Given the description of an element on the screen output the (x, y) to click on. 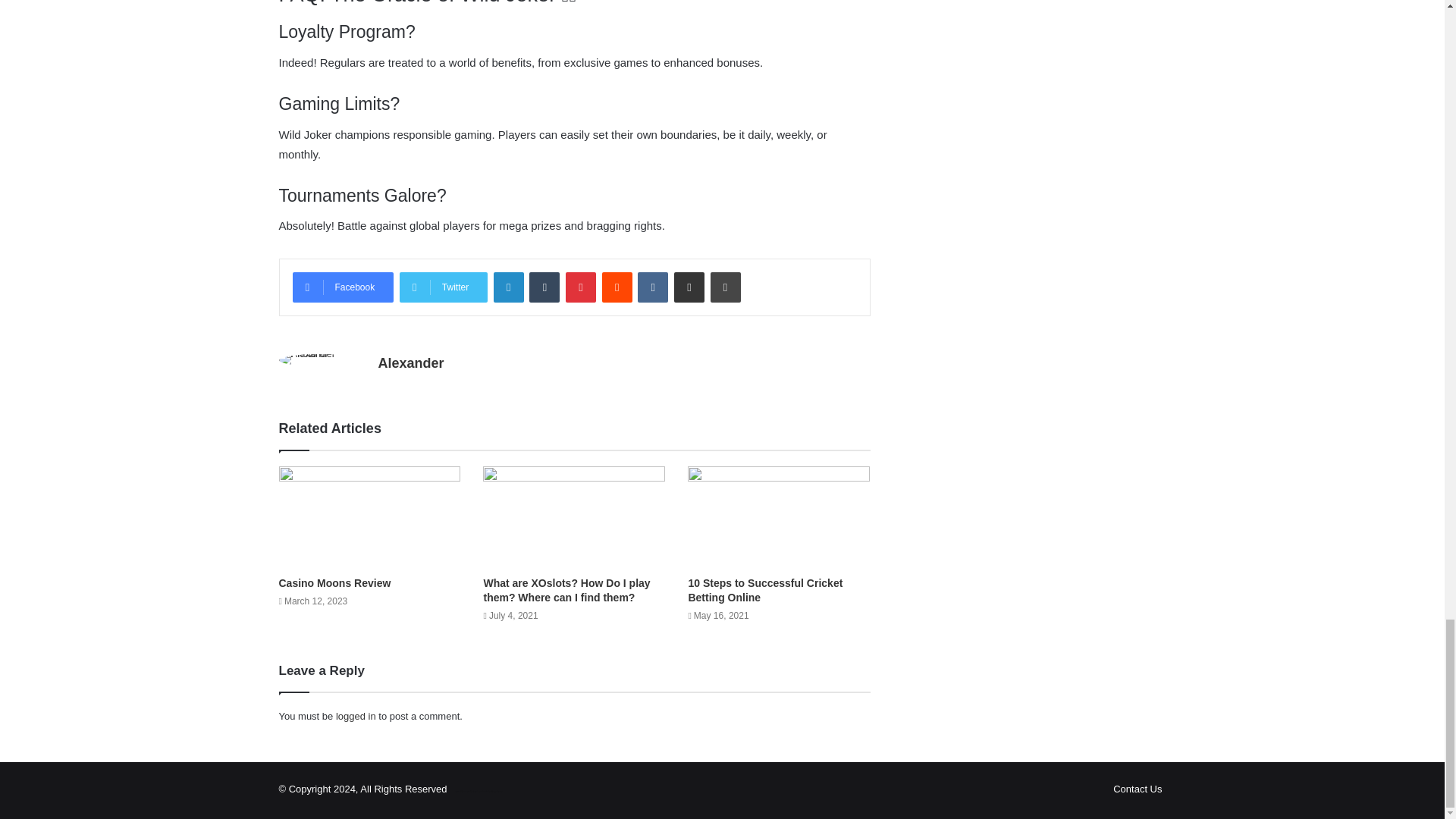
Facebook (343, 286)
Facebook (343, 286)
LinkedIn (508, 286)
Alexander (410, 363)
LinkedIn (508, 286)
Pinterest (580, 286)
Share via Email (689, 286)
10 Steps to Successful Cricket Betting Online (765, 590)
VKontakte (652, 286)
Tumblr (544, 286)
Twitter (442, 286)
Print (725, 286)
Reddit (616, 286)
Reddit (616, 286)
Pinterest (580, 286)
